Given the description of an element on the screen output the (x, y) to click on. 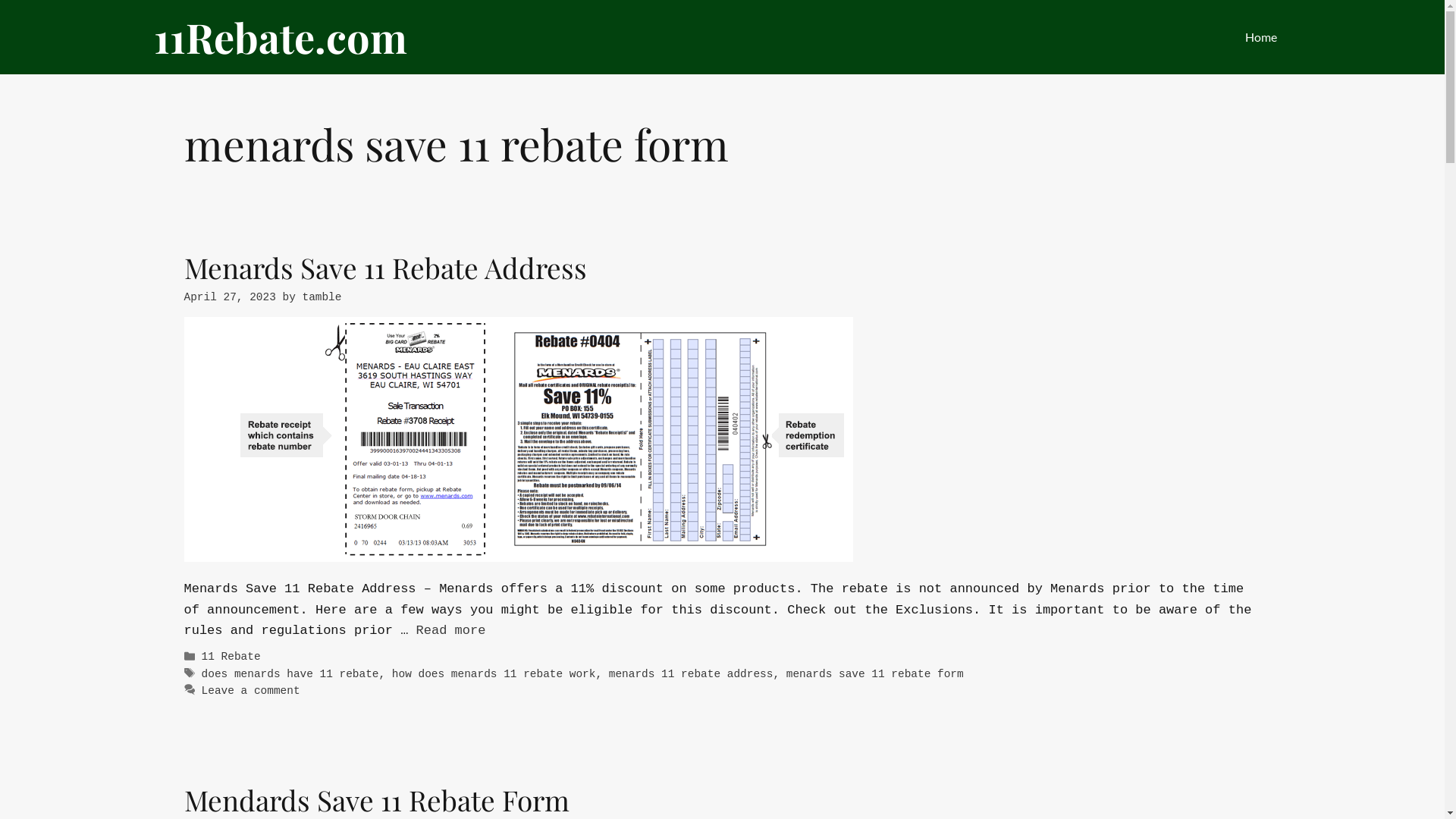
11Rebate.com Element type: text (279, 37)
Menards Save 11 Rebate Address Element type: text (384, 266)
Read more Element type: text (451, 630)
Mendards Save 11 Rebate Form Element type: text (375, 799)
11 Rebate Element type: text (230, 657)
menards 11 rebate address Element type: text (690, 674)
tamble Element type: text (321, 297)
menards save 11 rebate form Element type: text (874, 674)
does menards have 11 rebate Element type: text (290, 674)
Home Element type: text (1260, 37)
Leave a comment Element type: text (250, 690)
how does menards 11 rebate work Element type: text (494, 674)
